Given the description of an element on the screen output the (x, y) to click on. 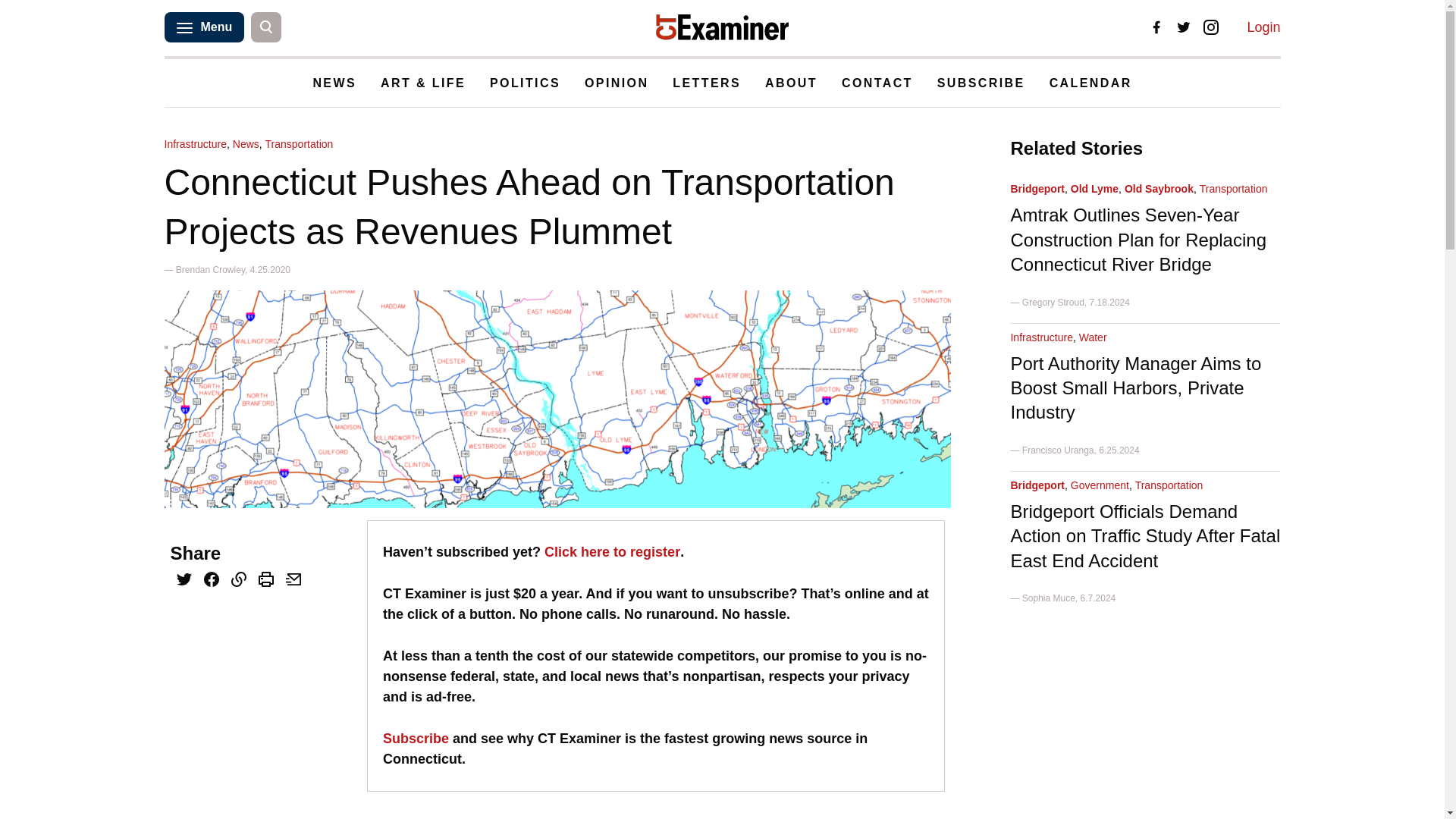
Transportation (298, 143)
CONTACT (876, 82)
twitter (1183, 27)
instagram (1211, 27)
Twitter (183, 581)
ABOUT (790, 82)
CALENDAR (1090, 82)
Email (292, 581)
Menu (203, 27)
Infrastructure (194, 143)
